Given the description of an element on the screen output the (x, y) to click on. 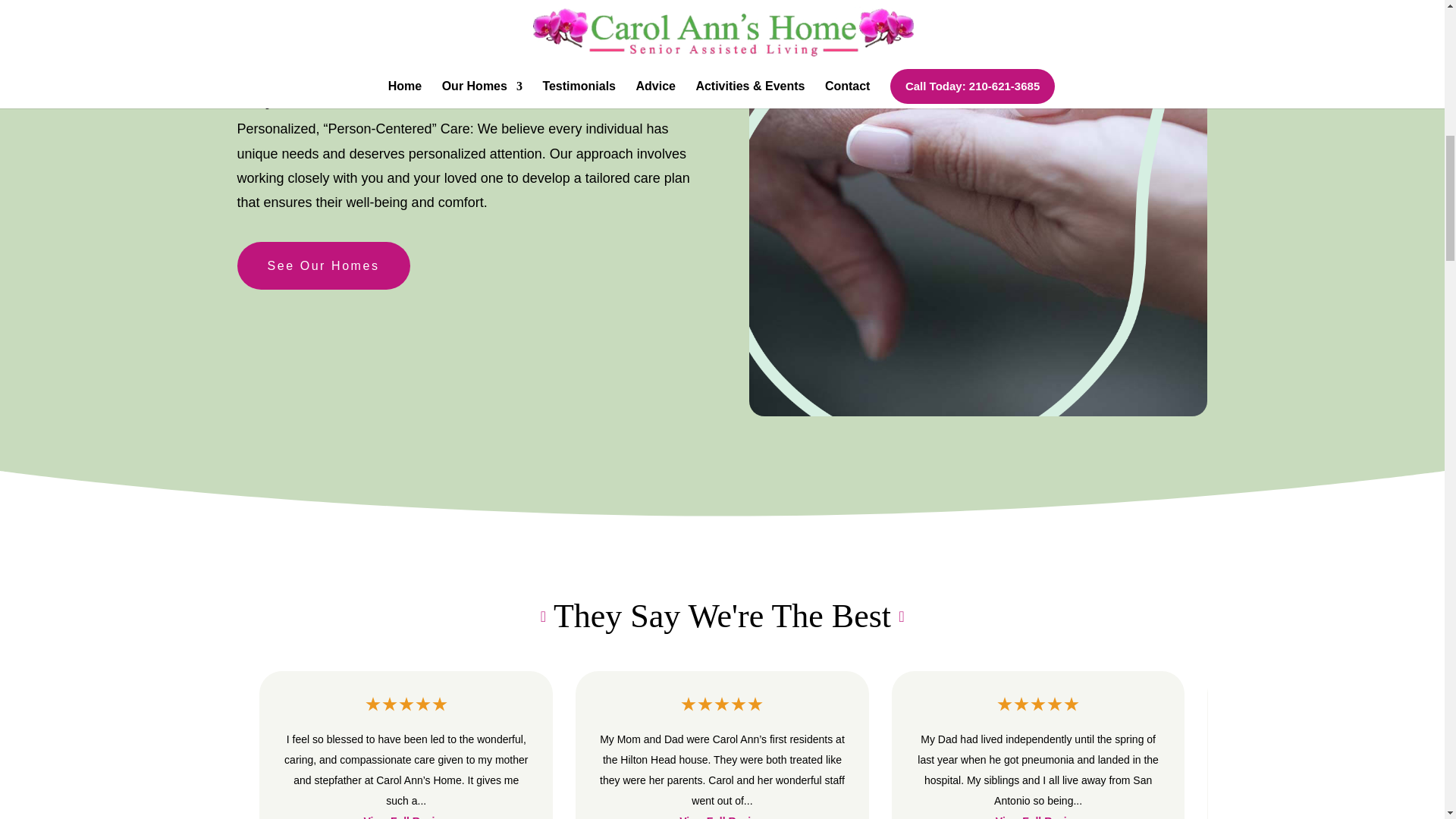
See Our Homes (322, 265)
View Full Review (406, 816)
View Full Review (1038, 816)
View Full Review (722, 816)
